Given the description of an element on the screen output the (x, y) to click on. 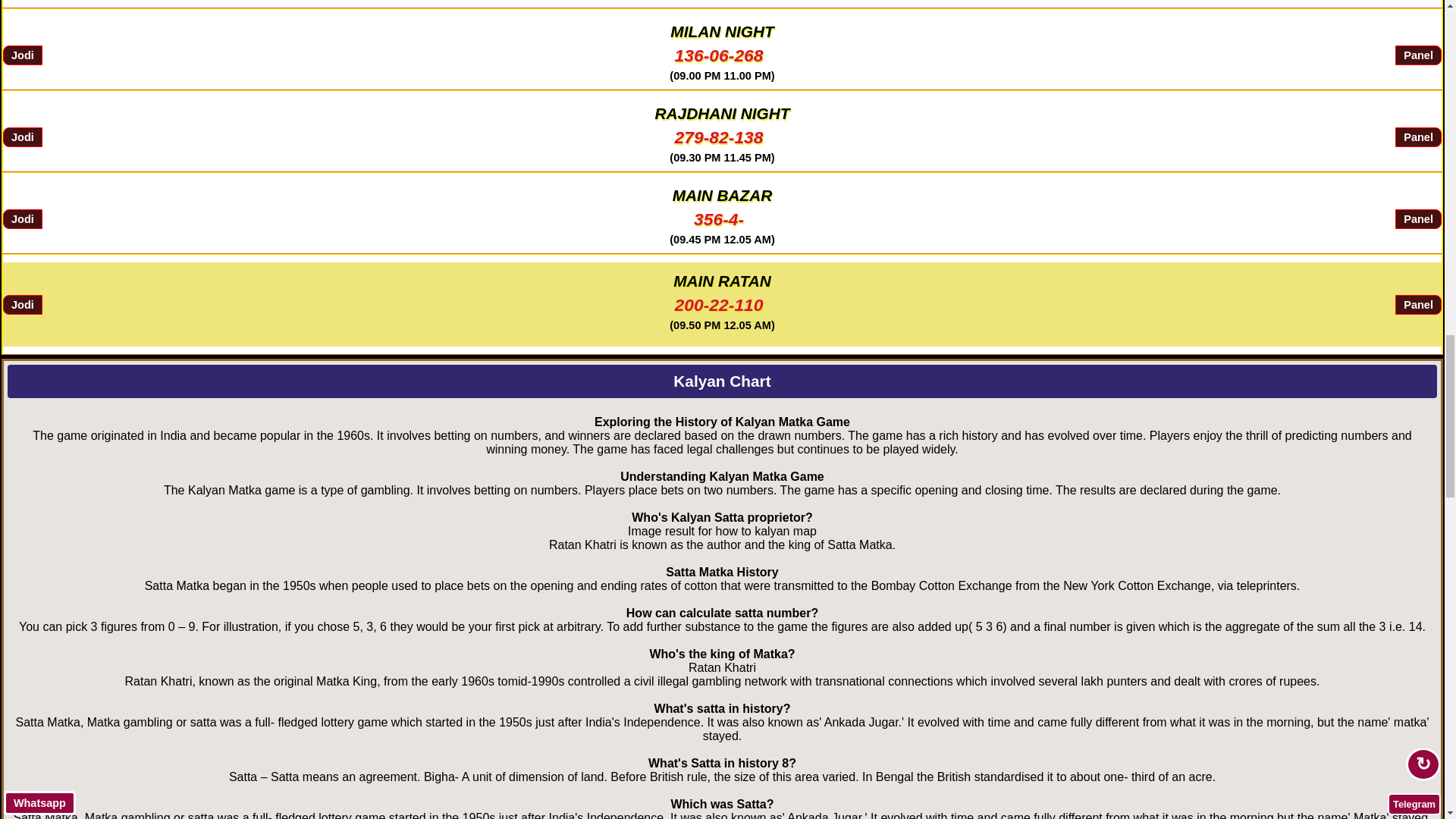
Jodi (22, 137)
Jodi (22, 304)
Jodi (22, 55)
Jodi (22, 219)
